Given the description of an element on the screen output the (x, y) to click on. 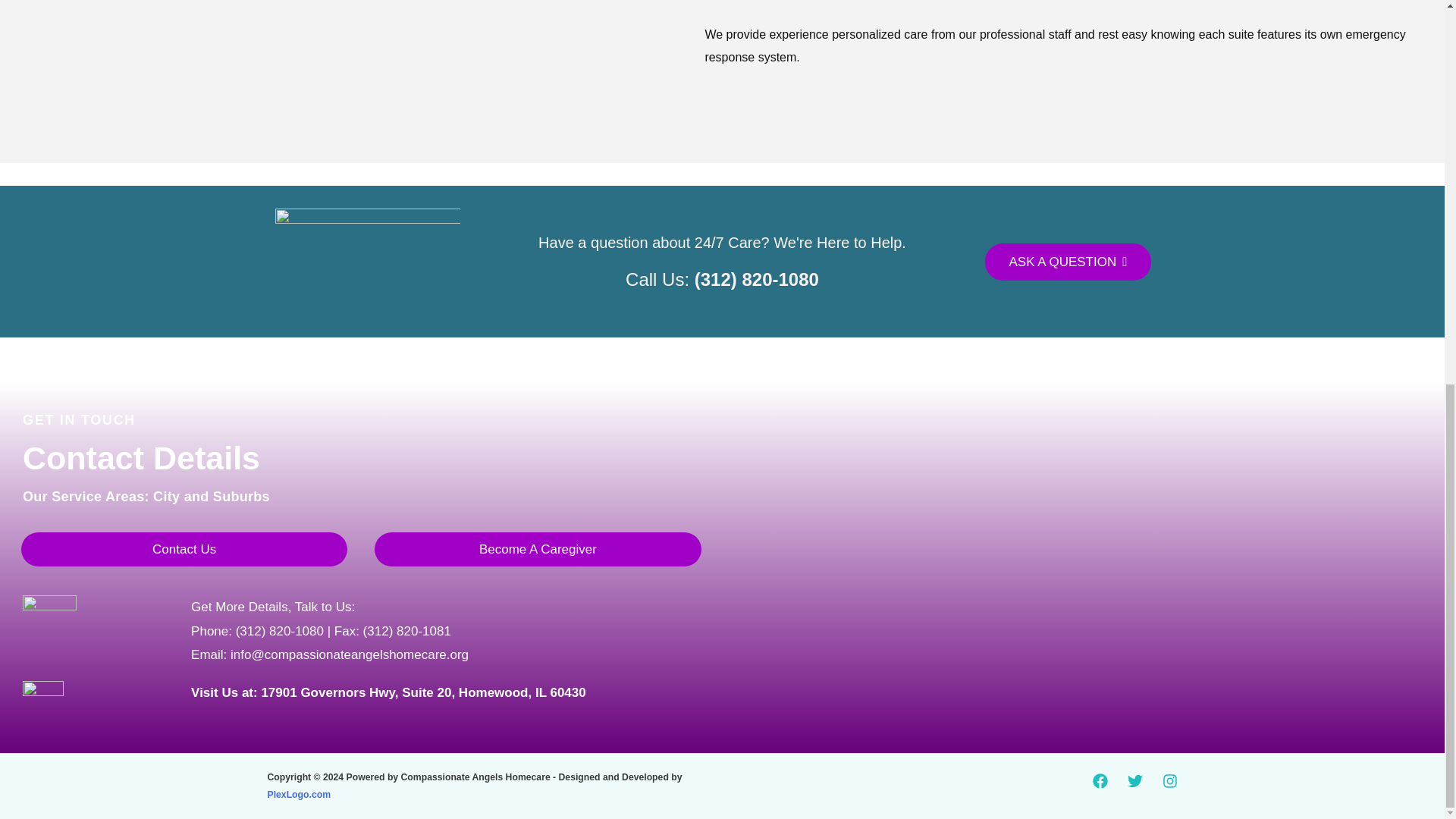
Contact Us (184, 549)
ASK A QUESTION (1067, 261)
Become A Caregiver (537, 549)
